Given the description of an element on the screen output the (x, y) to click on. 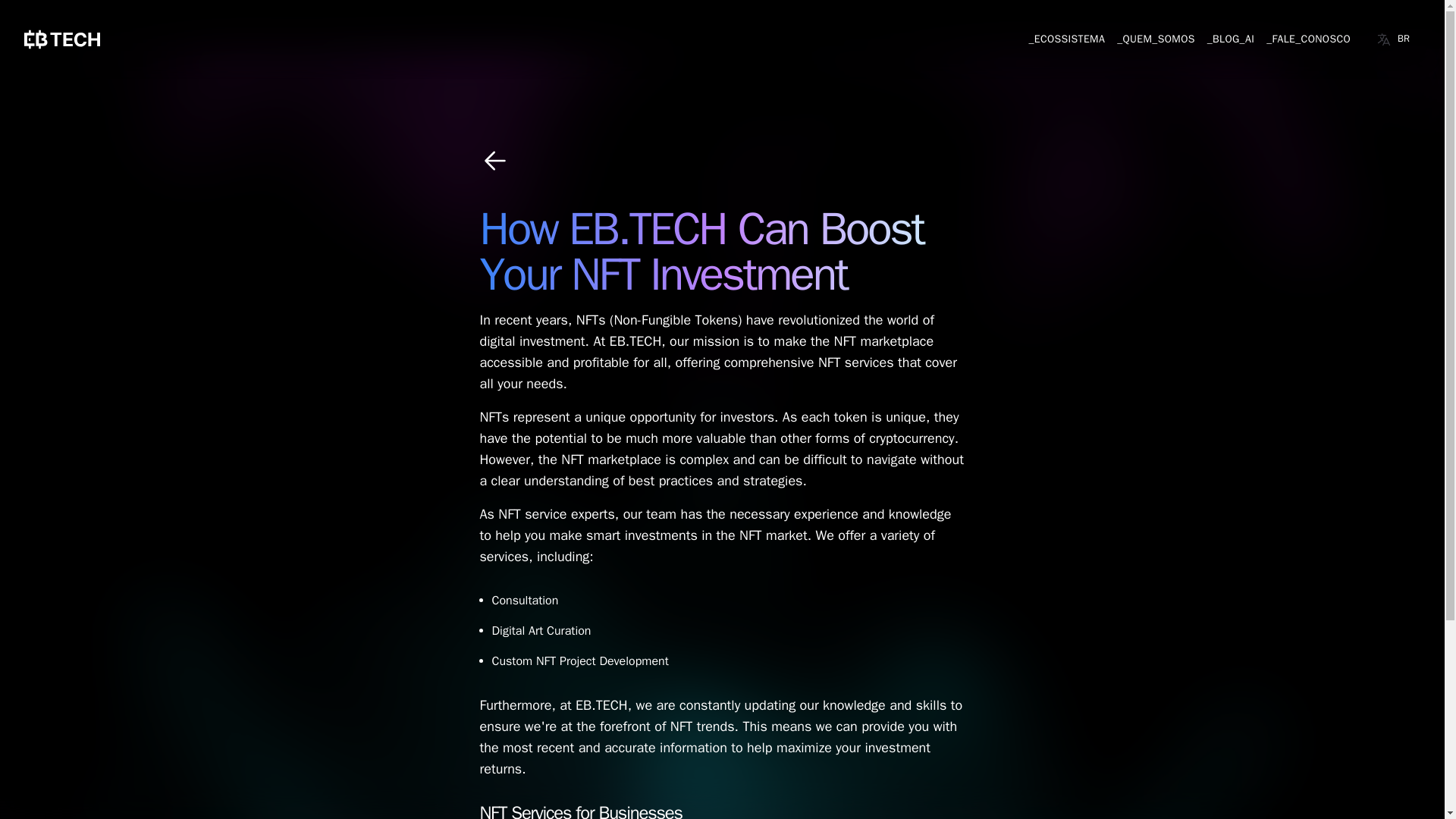
NFT Services for Businesses (580, 810)
